Given the description of an element on the screen output the (x, y) to click on. 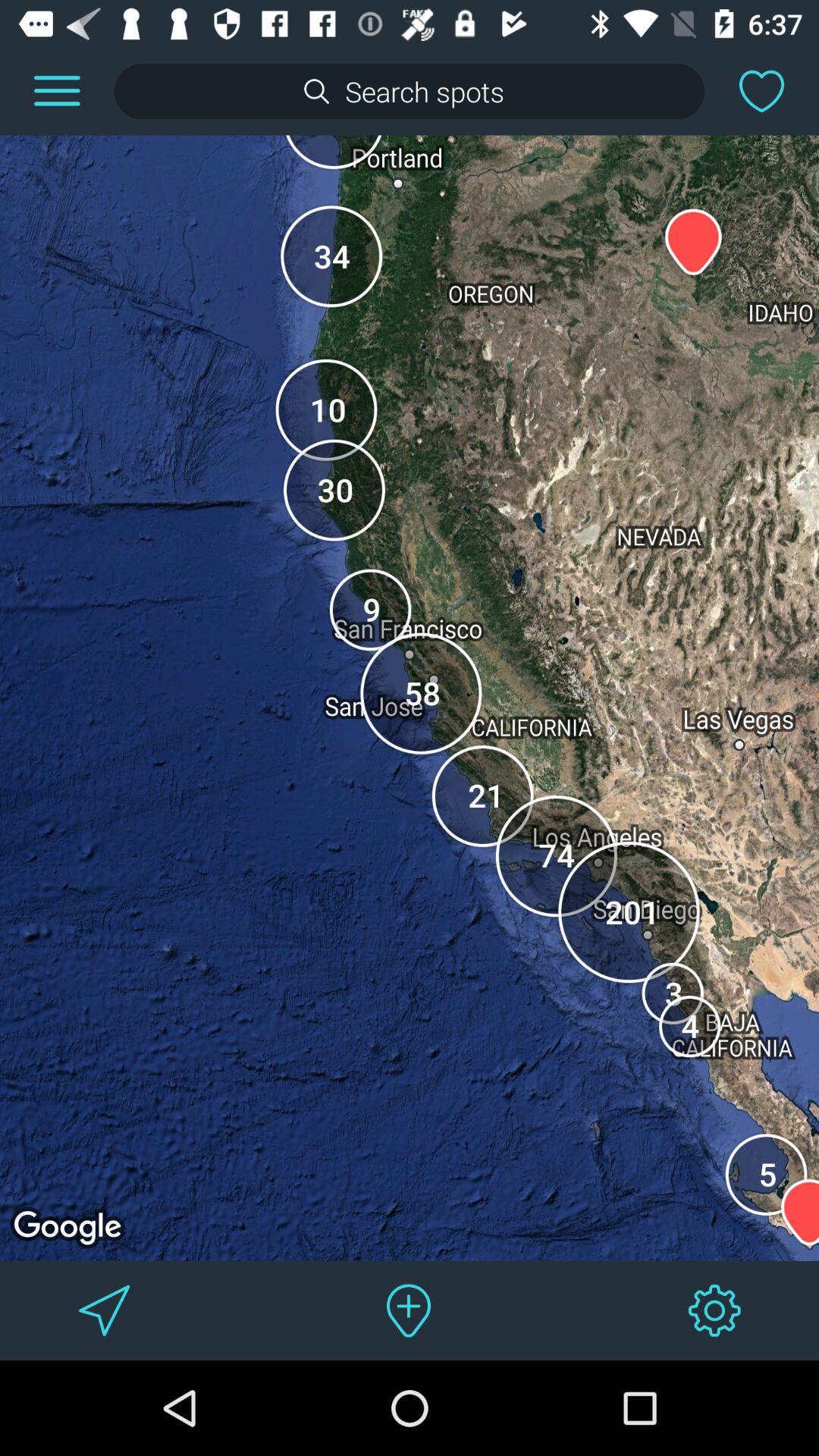
to search surf spots (409, 91)
